Given the description of an element on the screen output the (x, y) to click on. 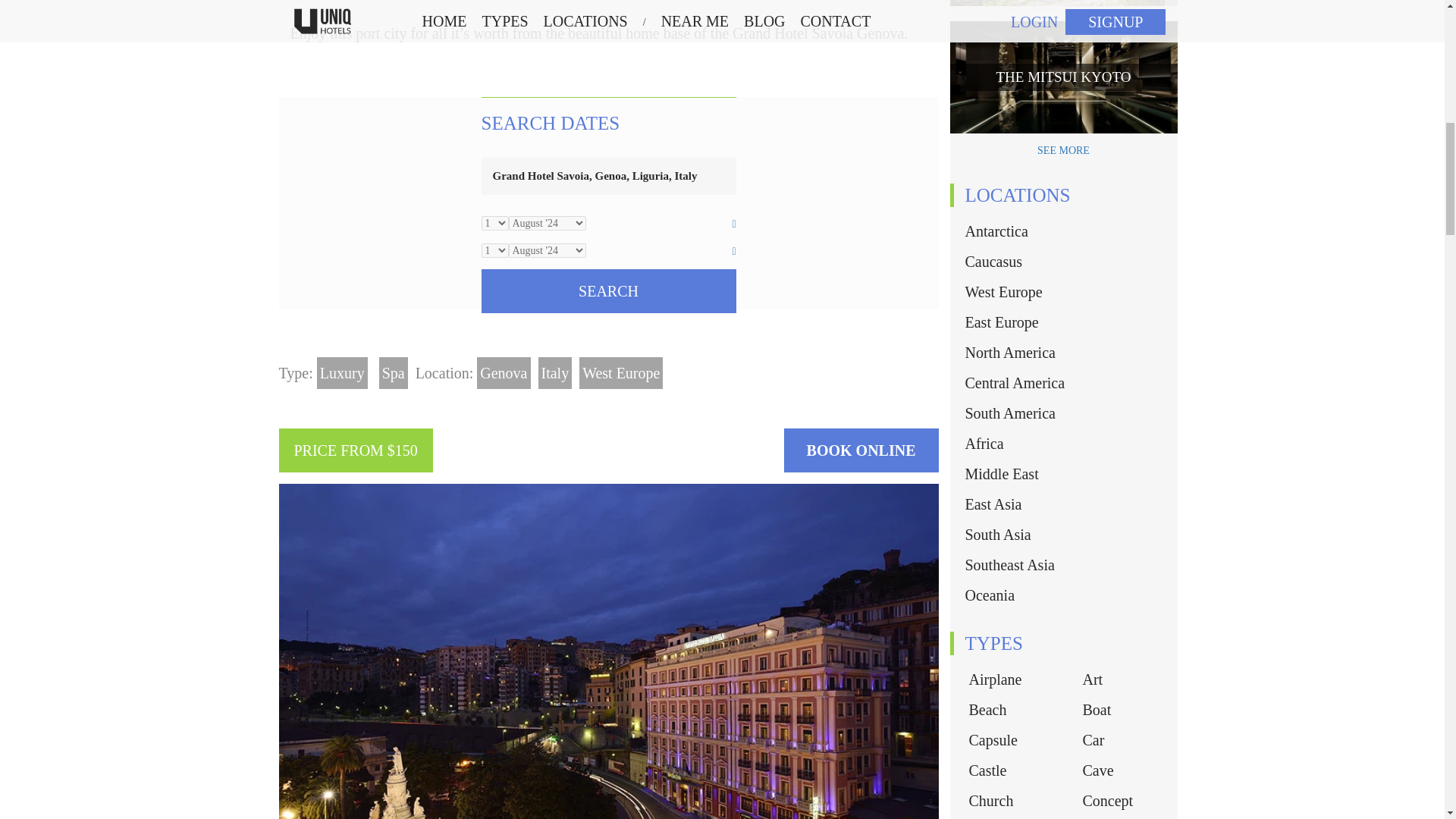
West Europe (620, 373)
Luxury (342, 373)
Grand Hotel Savoia, Genoa, Liguria, Italy (607, 176)
SEARCH (607, 290)
BOOK ONLINE (861, 450)
Italy (555, 373)
City, Region, Country, Landmark, Hotel, District (607, 176)
Spa (392, 373)
Genova (503, 373)
